Given the description of an element on the screen output the (x, y) to click on. 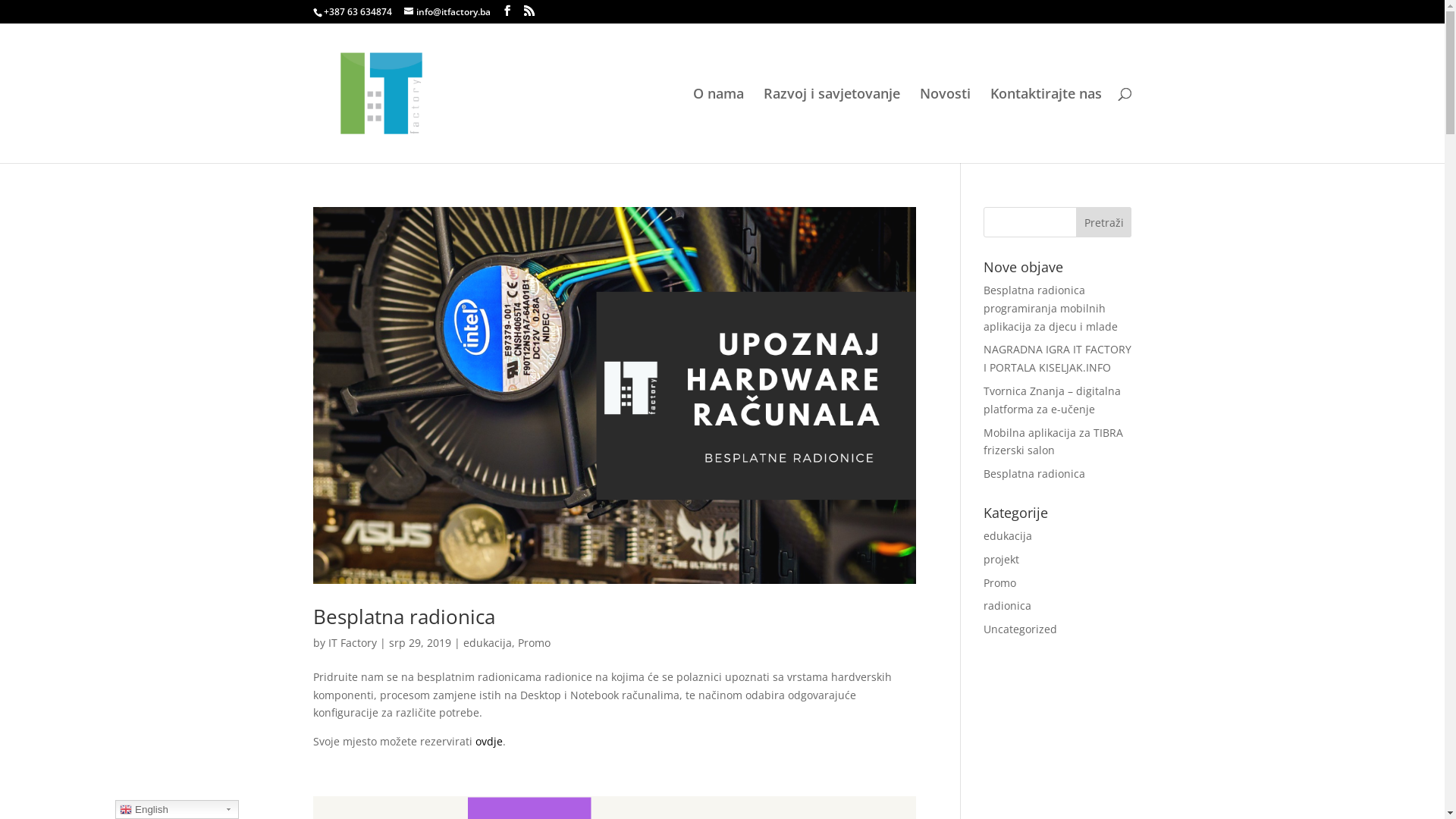
Promo Element type: text (533, 642)
Besplatna radionica Element type: text (403, 616)
Razvoj i savjetovanje Element type: text (830, 125)
edukacija Element type: text (486, 642)
O nama Element type: text (718, 125)
NAGRADNA IGRA IT FACTORY I PORTALA KISELJAK.INFO Element type: text (1057, 358)
Novosti Element type: text (944, 125)
projekt Element type: text (1001, 559)
ovdje Element type: text (488, 741)
radionica Element type: text (1007, 605)
Besplatna radionica Element type: text (1034, 473)
info@itfactory.ba Element type: text (446, 11)
Promo Element type: text (999, 582)
Kontaktirajte nas Element type: text (1045, 125)
Uncategorized Element type: text (1020, 628)
edukacija Element type: text (1007, 535)
Mobilna aplikacija za TIBRA frizerski salon Element type: text (1053, 441)
IT Factory Element type: text (351, 642)
